Given the description of an element on the screen output the (x, y) to click on. 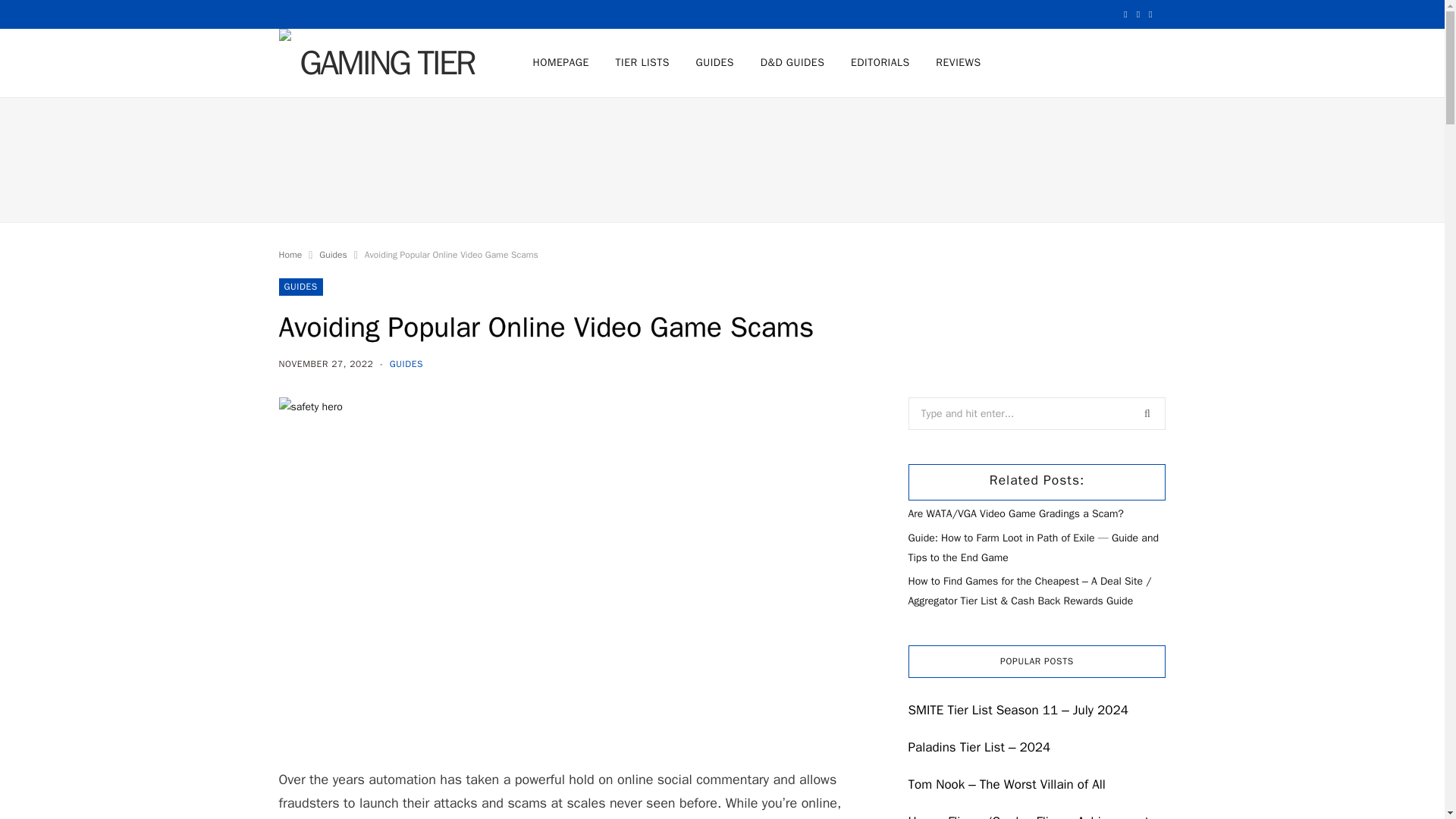
Discord (1150, 14)
GUIDES (301, 286)
EDITORIALS (880, 62)
YouTube (1138, 14)
Gaming Tier List (381, 62)
GUIDES (406, 364)
GUIDES (714, 62)
Facebook (1125, 14)
NOVEMBER 27, 2022 (328, 363)
Home (290, 254)
REVIEWS (957, 62)
HOMEPAGE (560, 62)
TIER LISTS (642, 62)
Guides (332, 254)
